Given the description of an element on the screen output the (x, y) to click on. 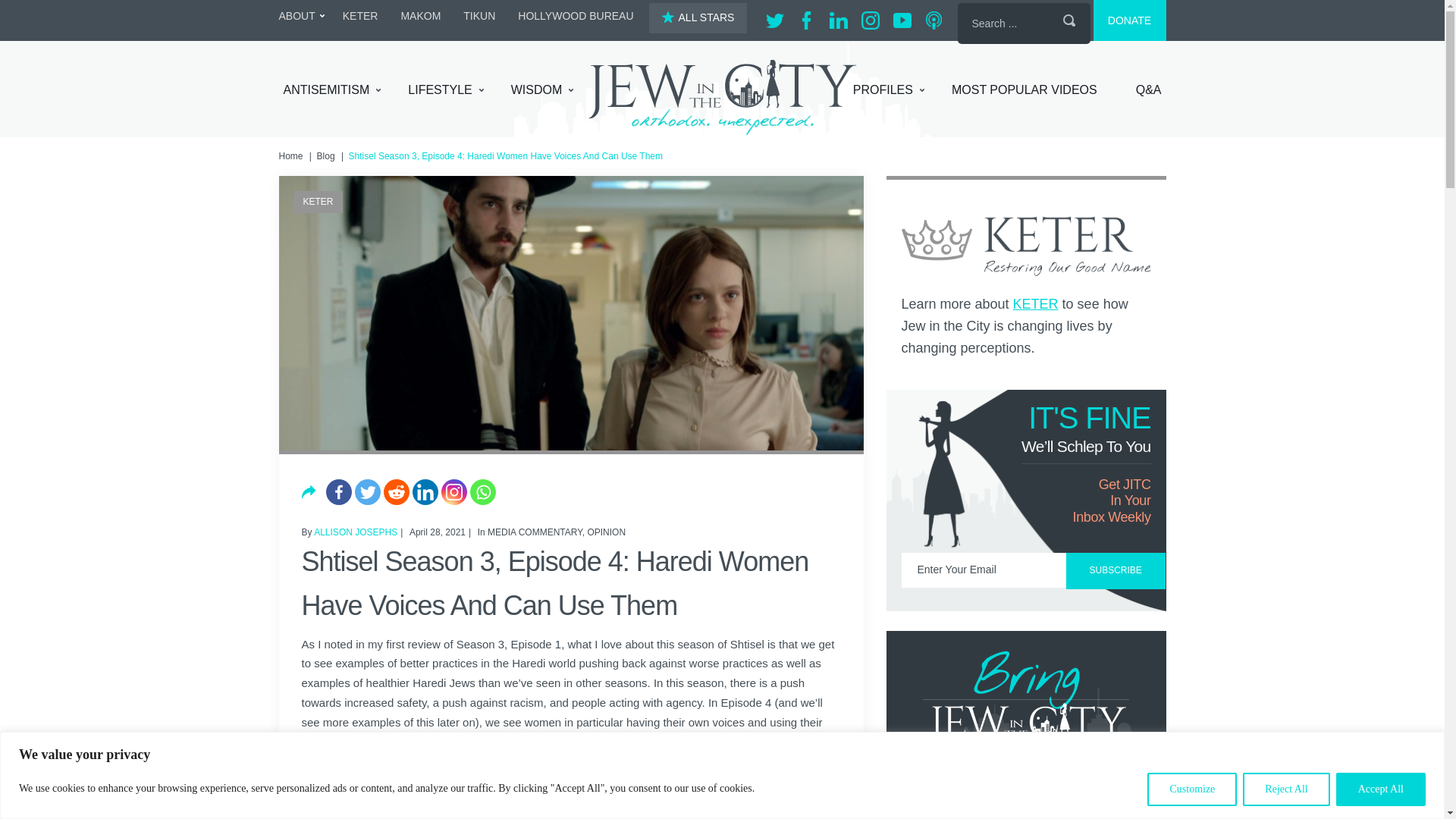
Instagram (454, 492)
Reddit (396, 492)
Linkedin (425, 492)
ANTISEMITISM (332, 90)
LIFESTYLE (445, 90)
Reject All (1286, 788)
Twitter (367, 492)
Whatsapp (483, 492)
Customize (1191, 788)
Facebook (339, 492)
WISDOM (542, 90)
Accept All (1380, 788)
